Given the description of an element on the screen output the (x, y) to click on. 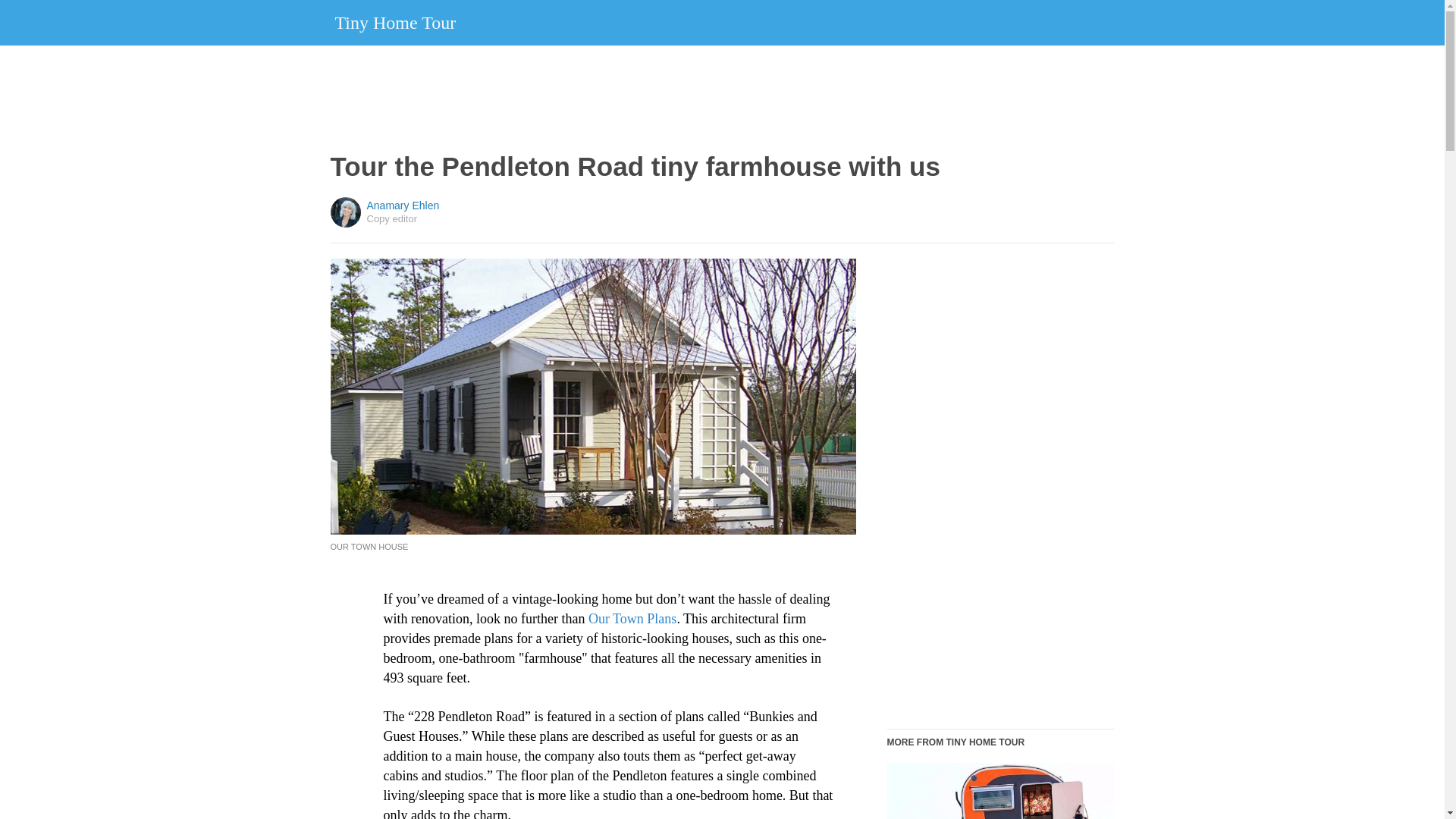
Our Town Plans (632, 618)
Tiny Home Tour (395, 21)
